Given the description of an element on the screen output the (x, y) to click on. 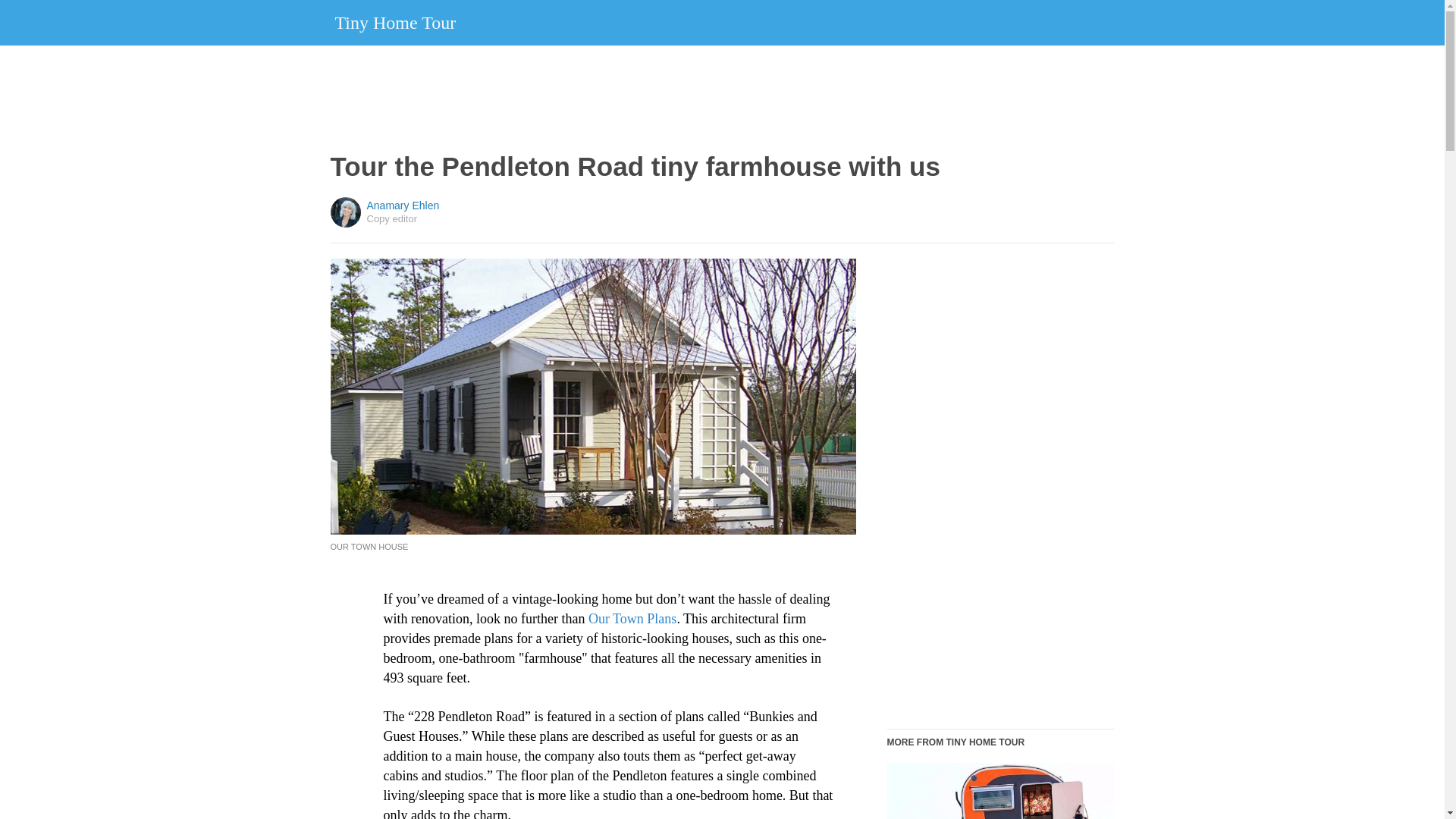
Our Town Plans (632, 618)
Tiny Home Tour (395, 21)
